Given the description of an element on the screen output the (x, y) to click on. 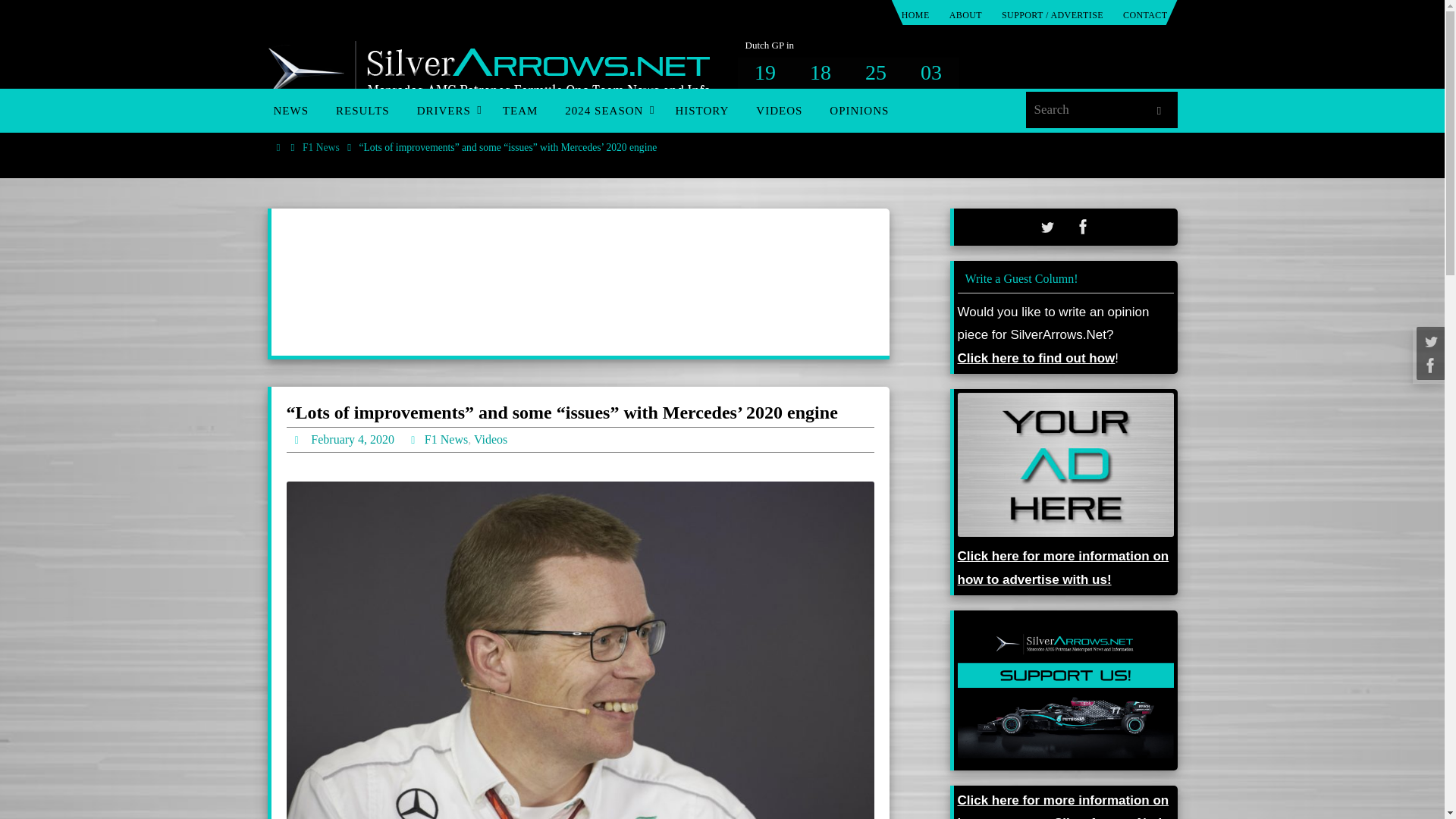
DRIVERS (446, 110)
SilverArrows.Net on Facebook (1082, 226)
HISTORY (701, 110)
2024 SEASON (606, 110)
Home (277, 147)
F1 News (446, 439)
Silver Arrows Net (488, 73)
Date (298, 439)
VIDEOS (778, 110)
Click here for more information on how to advertise with us! (1062, 568)
CONTACT (1144, 14)
SilverArrows.Net on Twitter (1046, 226)
F1 News (320, 147)
ABOUT (966, 14)
Search (1158, 110)
